Given the description of an element on the screen output the (x, y) to click on. 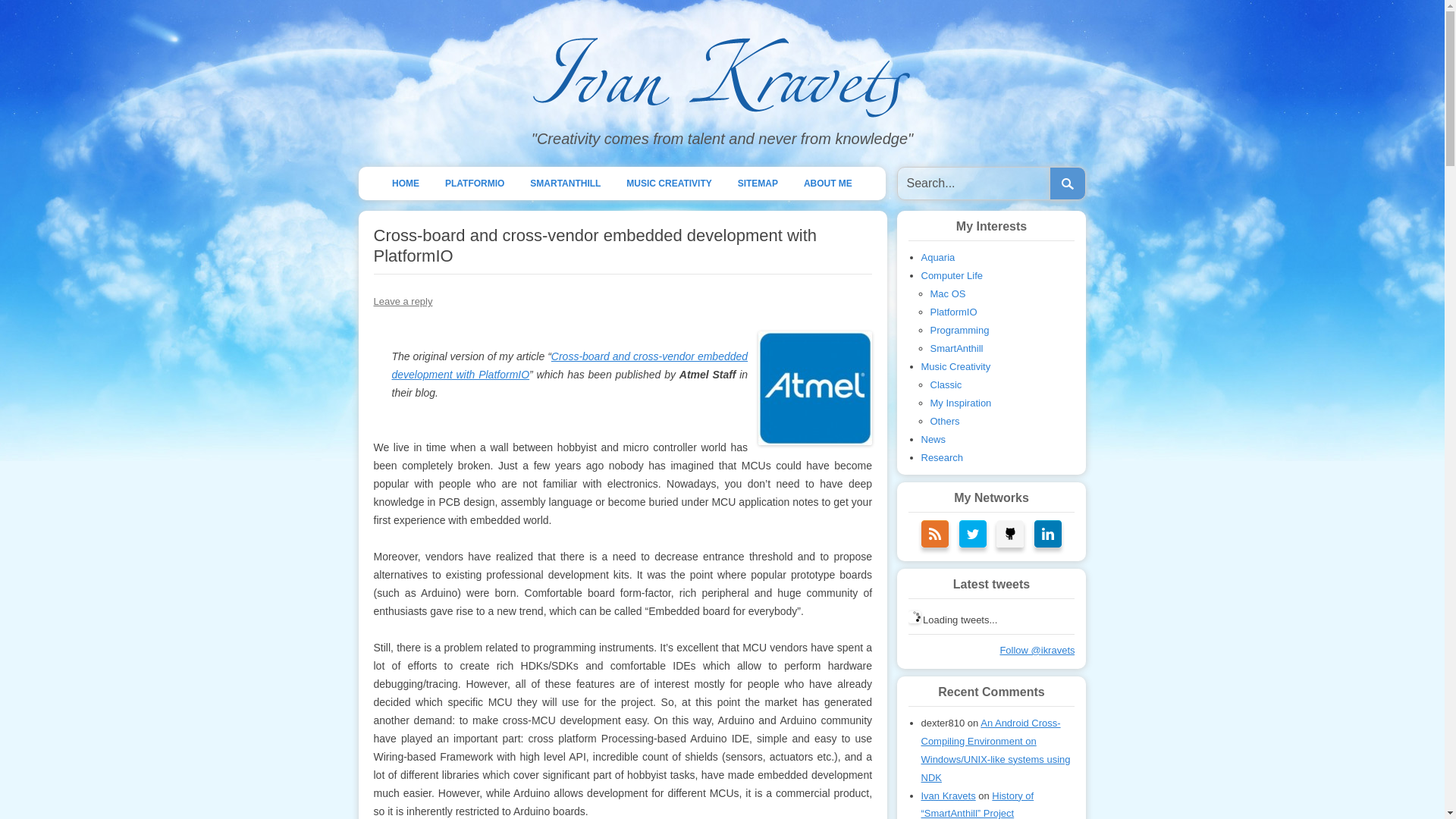
"Creativity comes from talent and never from knowledge" (721, 139)
ABOUT ME (827, 183)
SITEMAP (757, 183)
PLATFORMIO (474, 183)
MUSIC CREATIVITY (668, 183)
An open IoT system (564, 183)
RSS (935, 533)
Twitter (973, 533)
"Creativity comes from talent and never from knowledge" (721, 139)
